Given the description of an element on the screen output the (x, y) to click on. 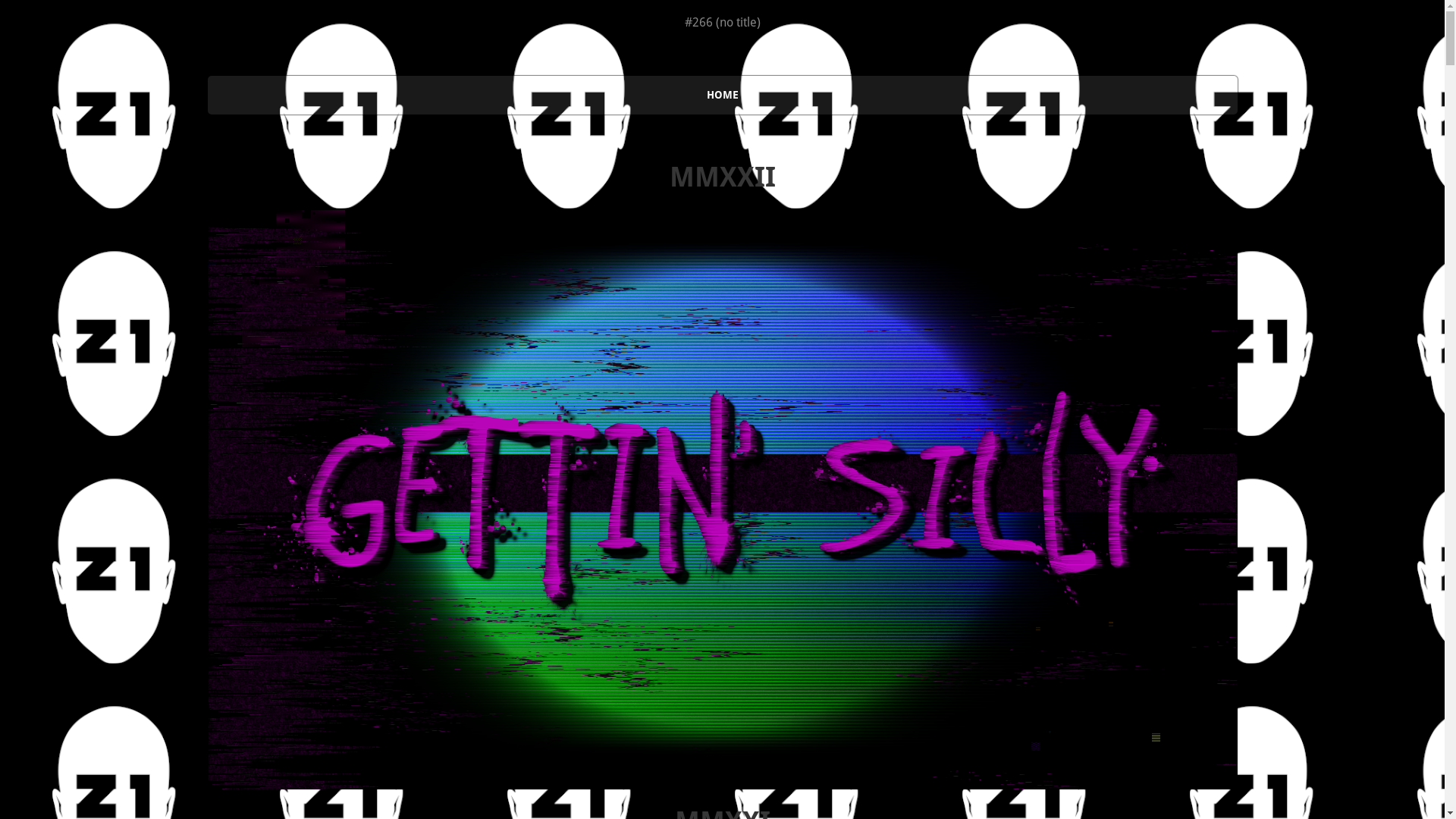
HOME Element type: text (721, 94)
#266 (no title) Element type: text (721, 22)
